Given the description of an element on the screen output the (x, y) to click on. 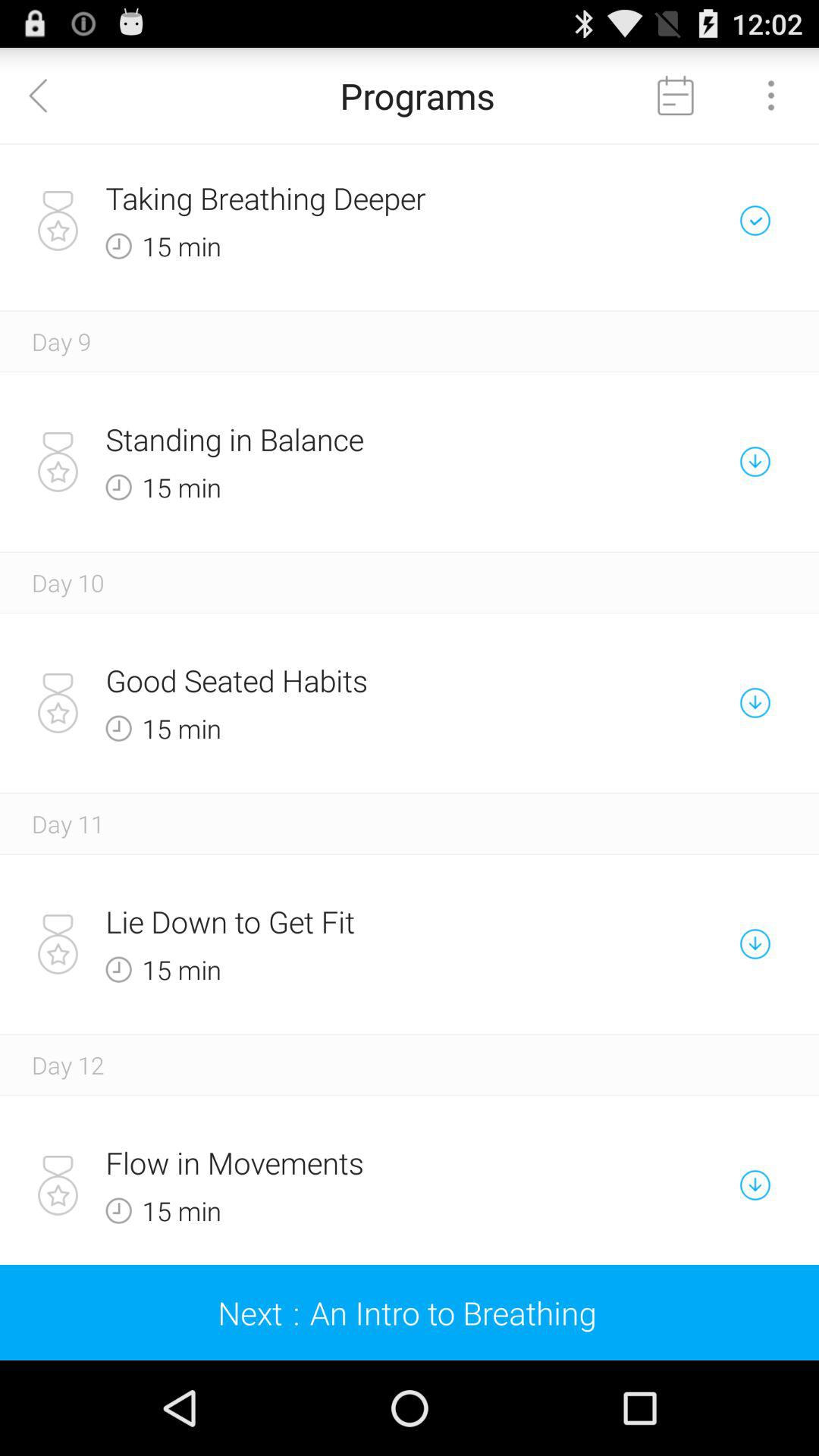
launch the item next to programs icon (47, 95)
